Given the description of an element on the screen output the (x, y) to click on. 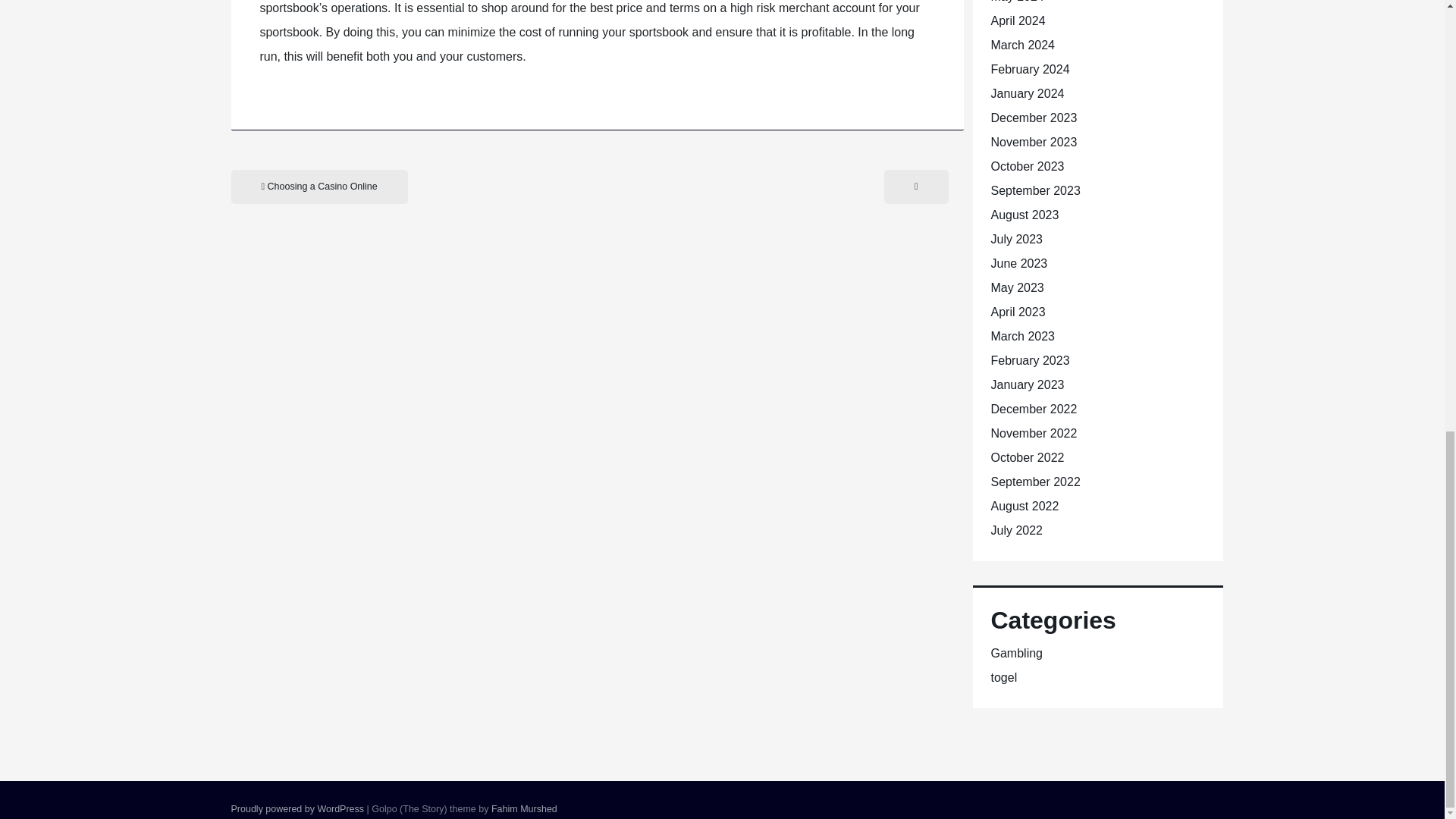
November 2023 (1033, 141)
June 2023 (1018, 263)
August 2023 (1024, 214)
July 2023 (1016, 238)
November 2022 (1033, 432)
April 2023 (1017, 311)
December 2022 (1033, 408)
March 2024 (1022, 44)
January 2024 (1027, 92)
Choosing a Casino Online (318, 186)
January 2023 (1027, 384)
February 2024 (1029, 69)
March 2023 (1022, 336)
September 2023 (1035, 190)
April 2024 (1017, 20)
